Given the description of an element on the screen output the (x, y) to click on. 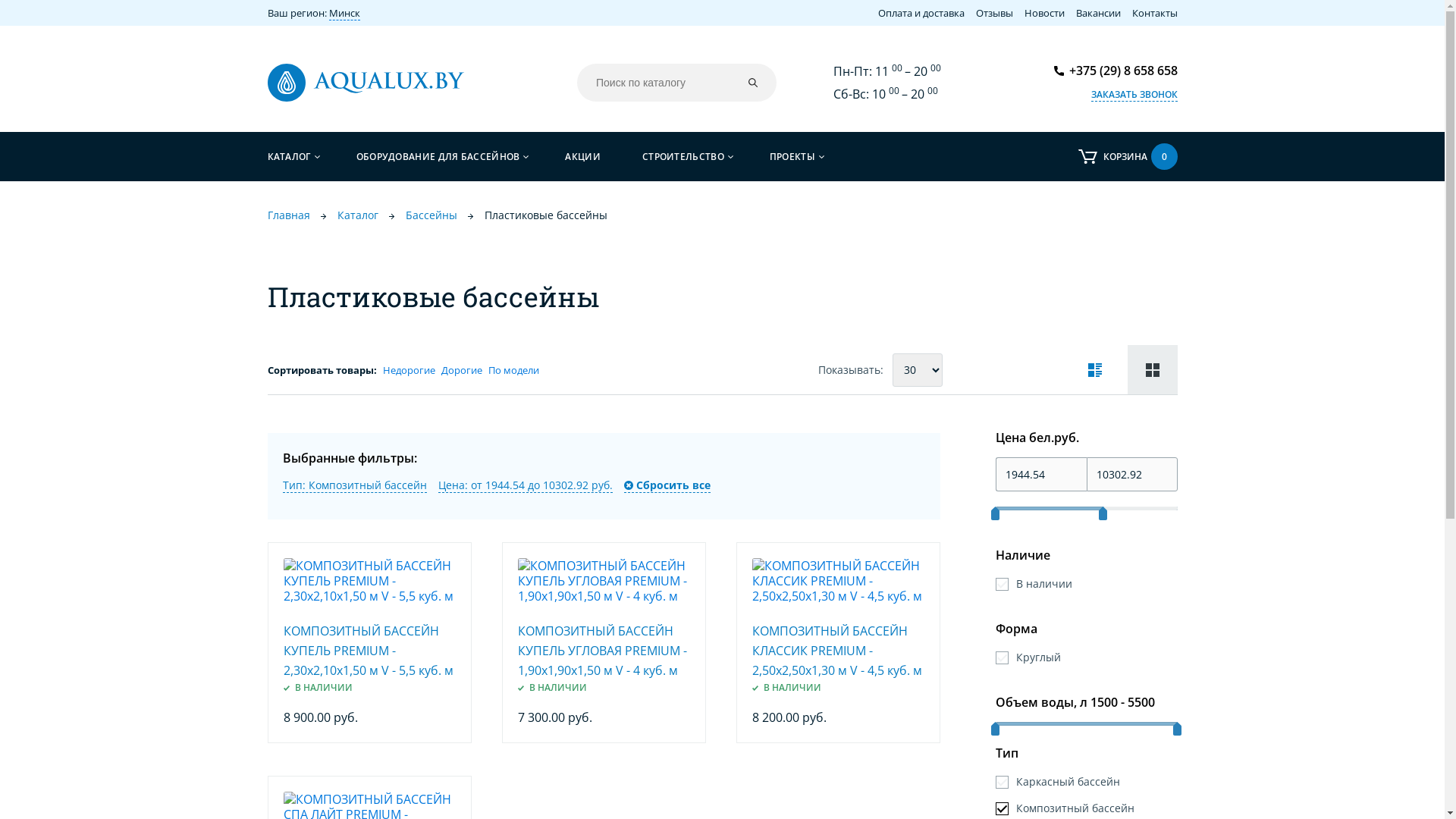
+375 (29) 8 658 658 Element type: text (1115, 70)
aqualux.by Element type: hover (364, 82)
